Given the description of an element on the screen output the (x, y) to click on. 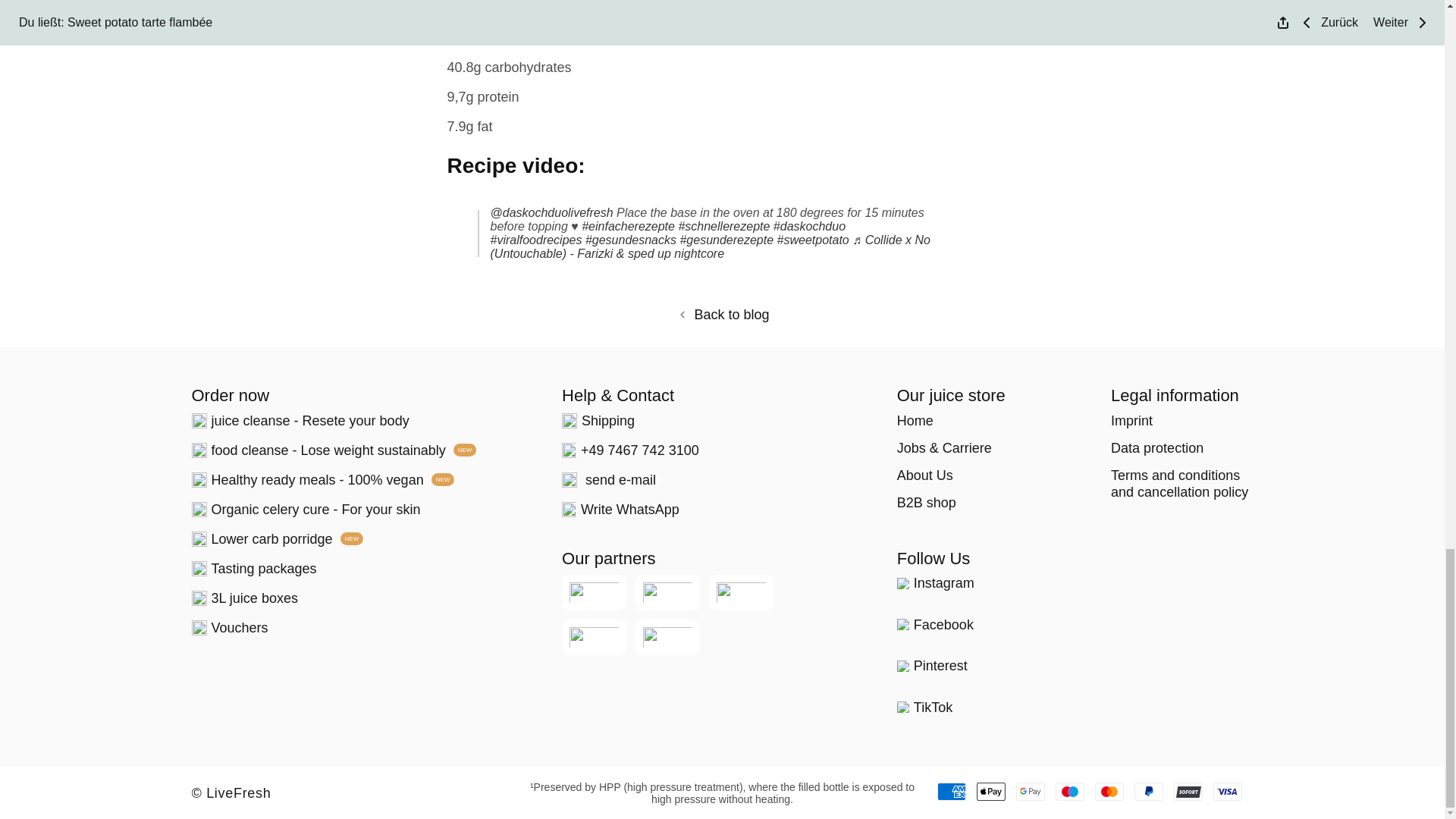
sweet potato (812, 239)
healthy snacks (631, 239)
healthy recipes (726, 239)
viralfoodrecipes (534, 239)
the cooking duo (809, 226)
simpler recipes (627, 226)
faster recipes (724, 226)
